Given the description of an element on the screen output the (x, y) to click on. 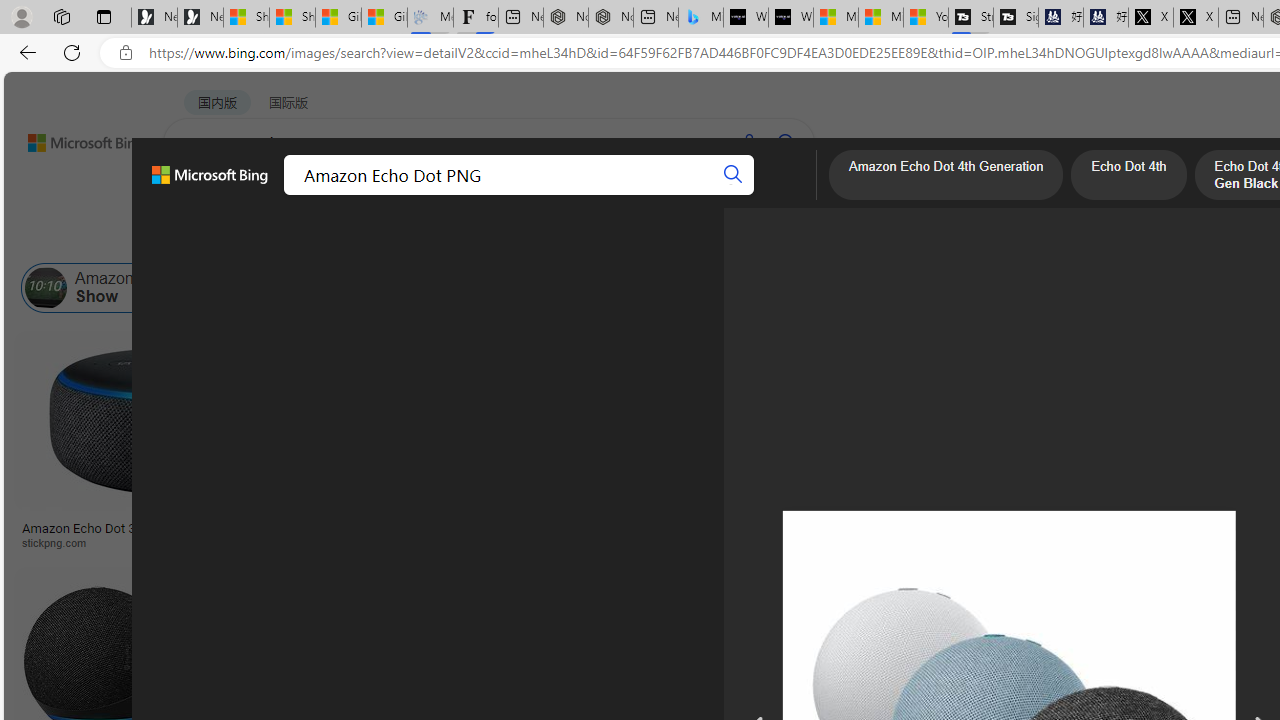
stickpng.com (1149, 541)
People (521, 237)
Amazon Echo Dot 3rd (651, 287)
Layout (443, 237)
Newsletter Sign Up (199, 17)
WEB (201, 195)
Amazon Echo Dot PNG transparente - StickPNG (615, 534)
Amazon Echo 2nd Generation (1070, 287)
